Given the description of an element on the screen output the (x, y) to click on. 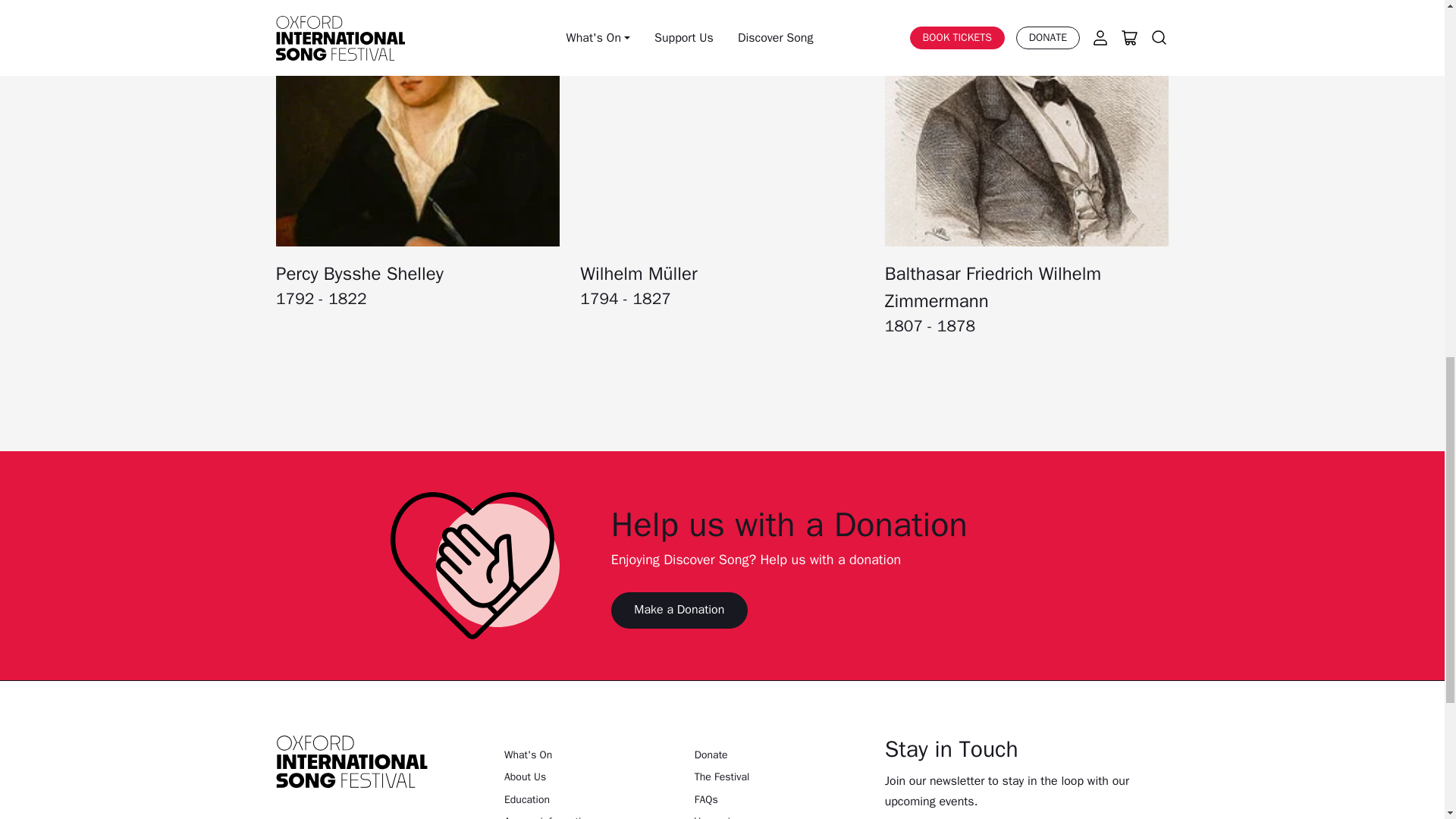
Support Us (721, 405)
What's On (722, 337)
Discover Song (721, 428)
Account (703, 499)
All Events (722, 382)
Basket (740, 499)
Festival 2024 (721, 360)
